Given the description of an element on the screen output the (x, y) to click on. 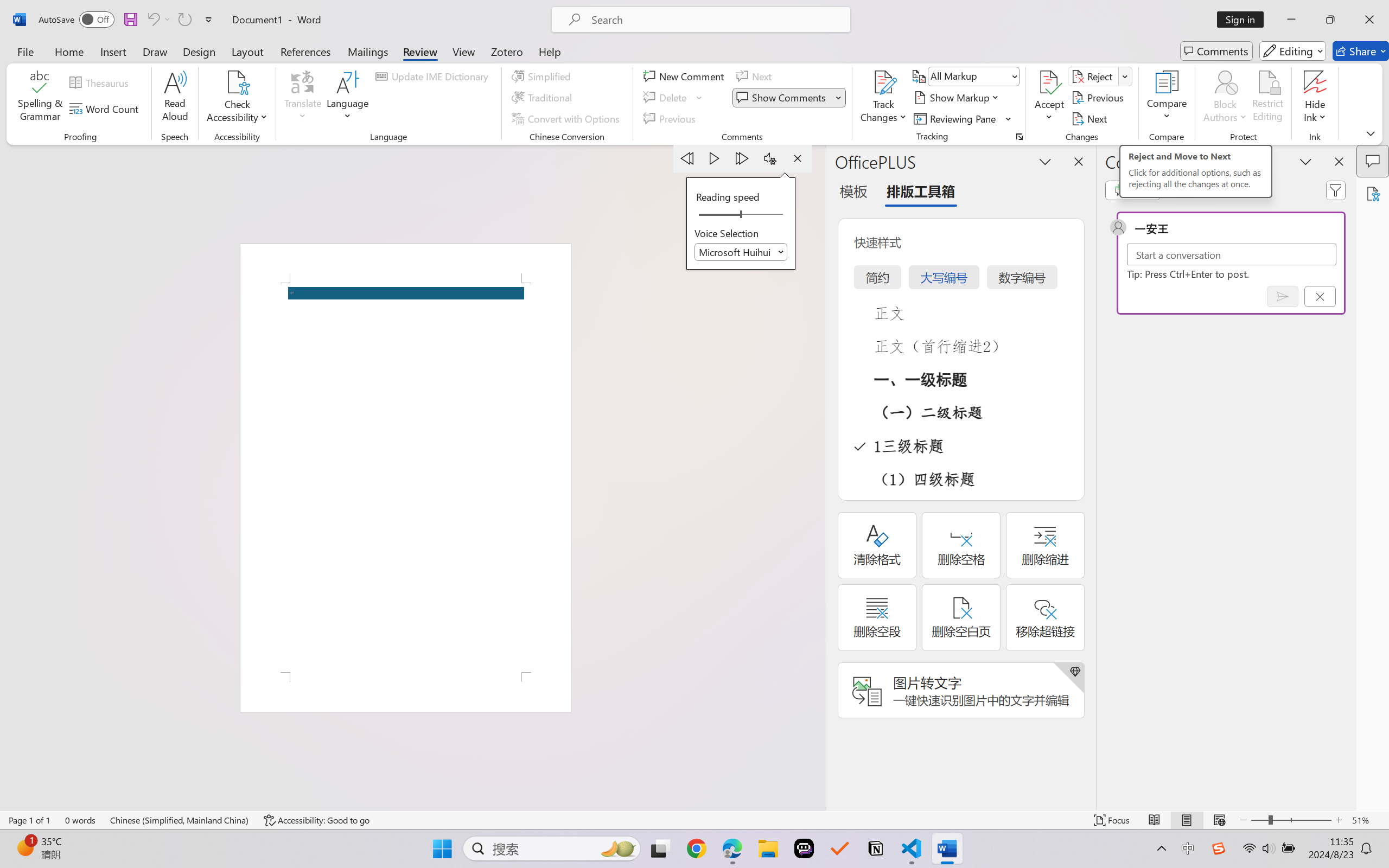
Read Aloud (174, 97)
Language (347, 97)
Previous Paragraph (687, 158)
Block Authors (1224, 81)
Translate (303, 97)
Thesaurus... (101, 82)
Reviewing Pane (955, 118)
New Comment (685, 75)
Filter (1335, 190)
